Given the description of an element on the screen output the (x, y) to click on. 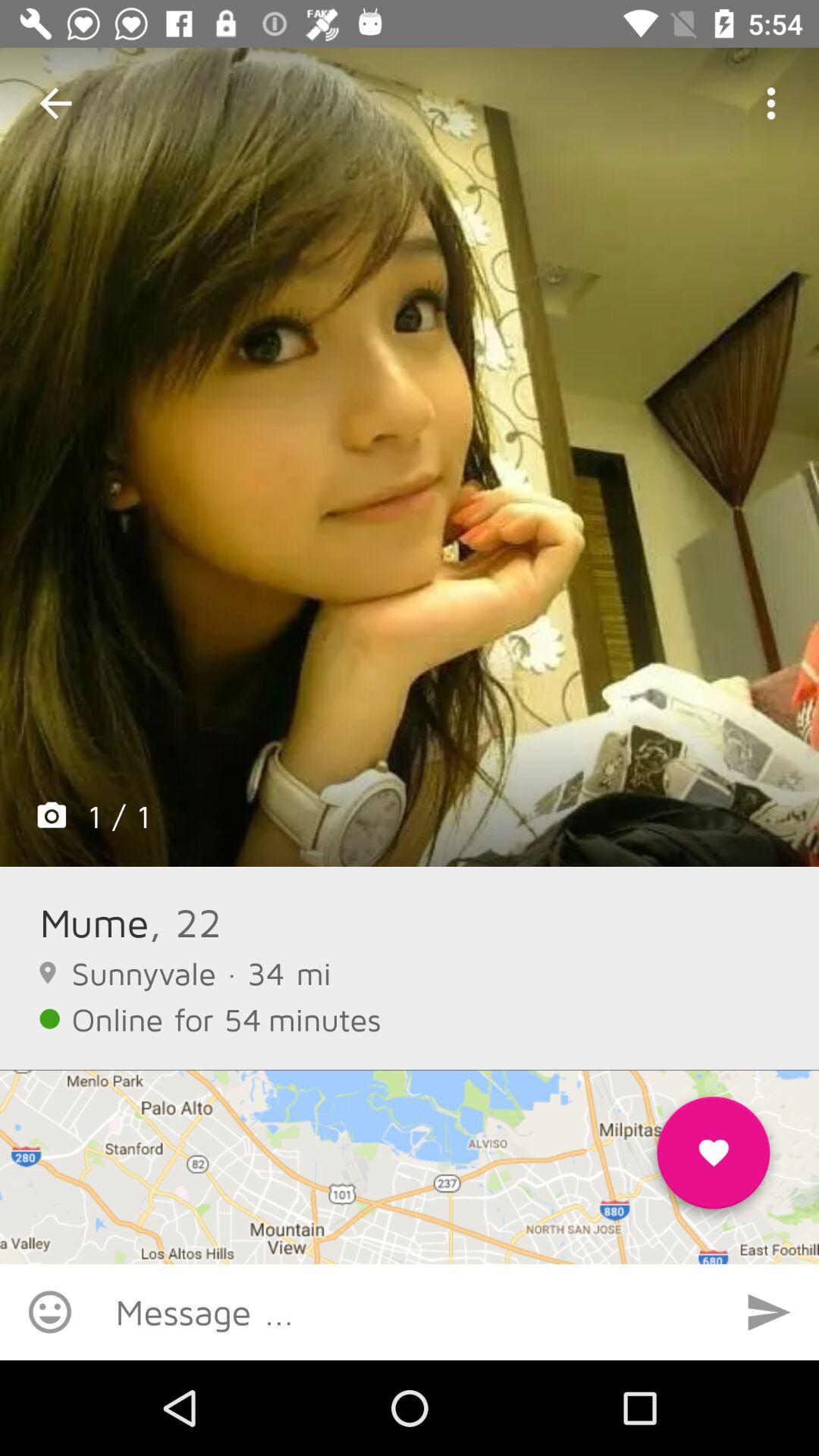
press icon above the mume icon (409, 456)
